Given the description of an element on the screen output the (x, y) to click on. 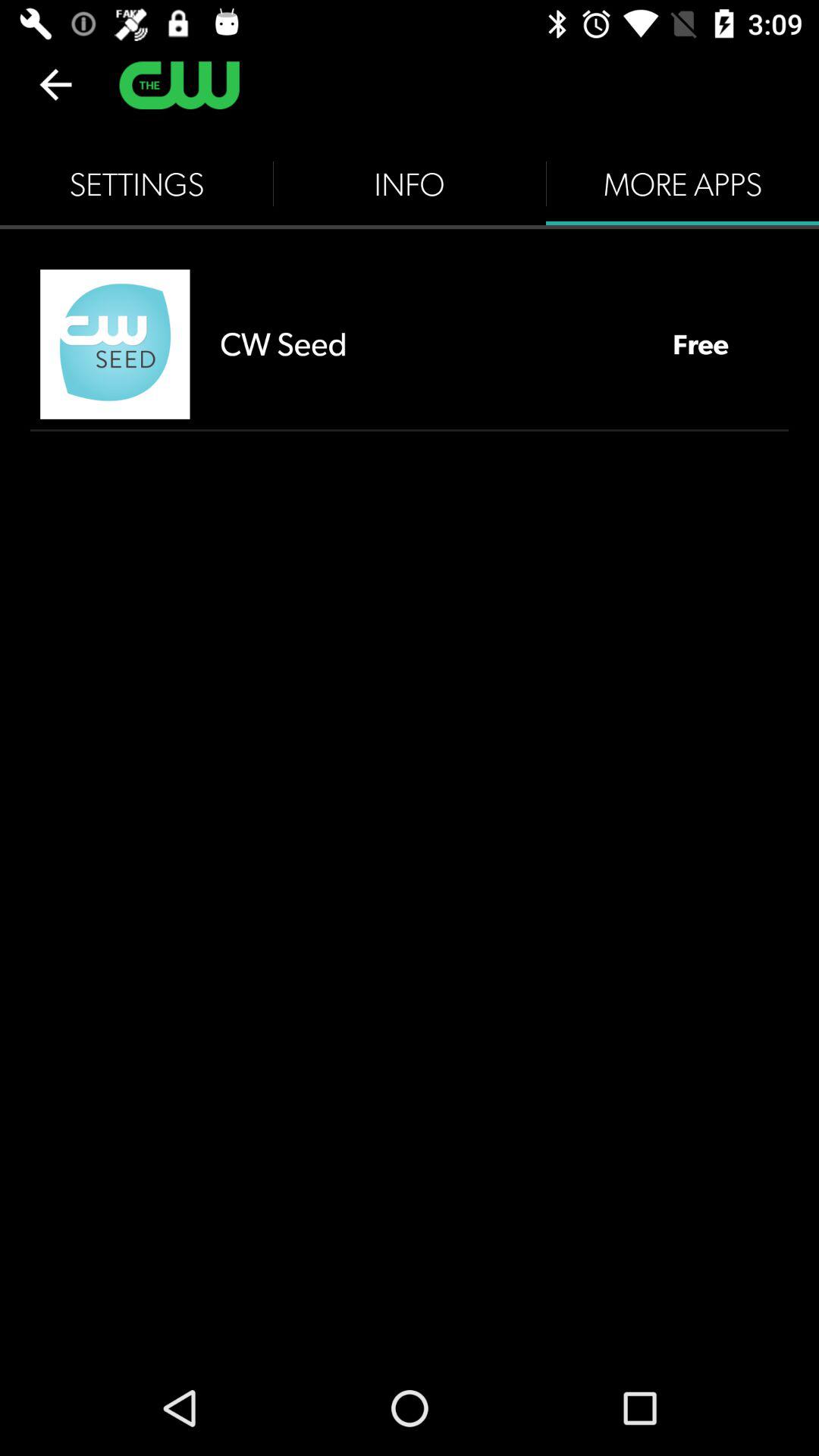
choose icon to the left of the info icon (136, 184)
